Given the description of an element on the screen output the (x, y) to click on. 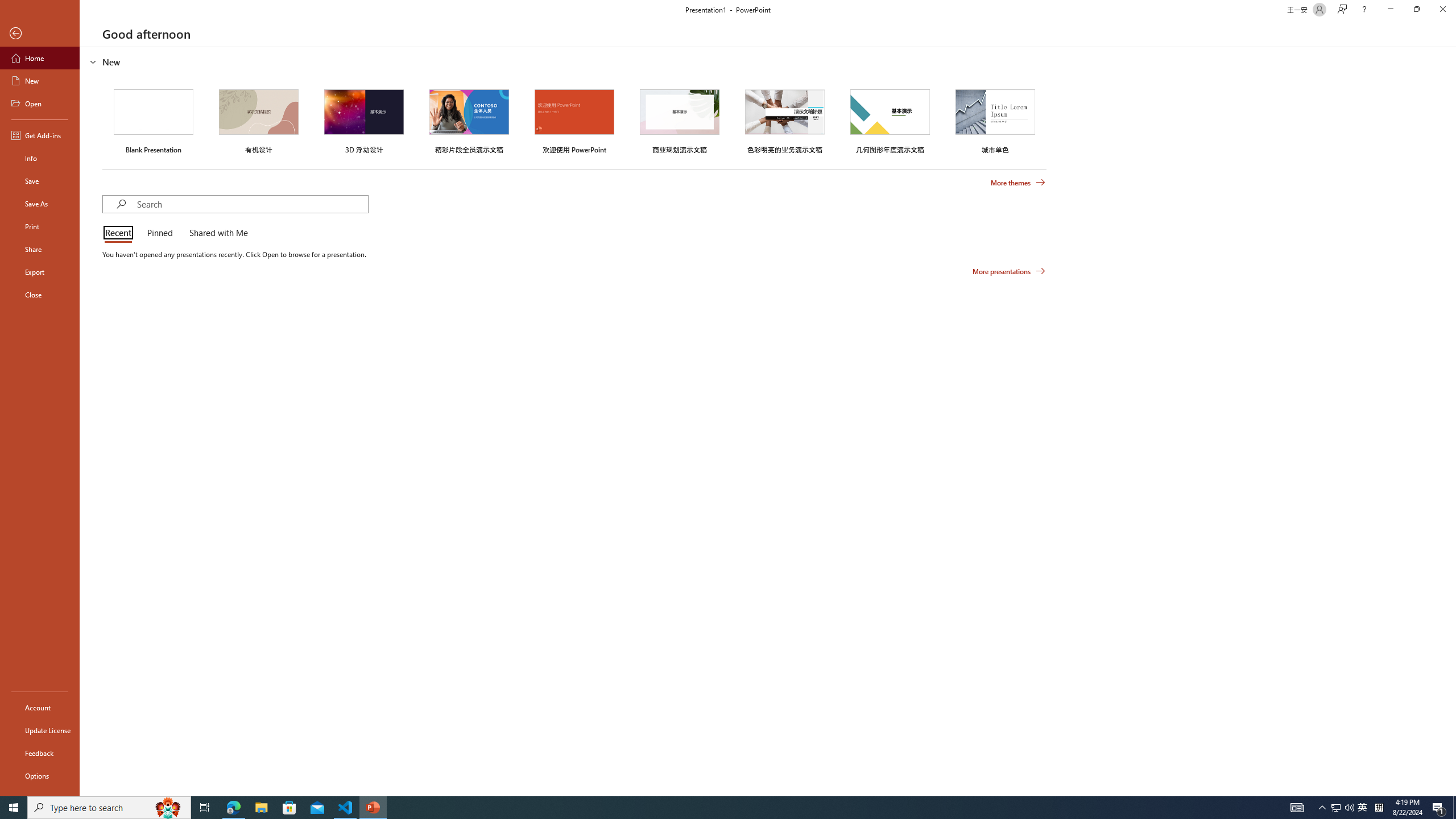
Hide or show region (92, 61)
Blank Presentation (153, 119)
Save As (40, 203)
Account (40, 707)
Info (40, 157)
